Given the description of an element on the screen output the (x, y) to click on. 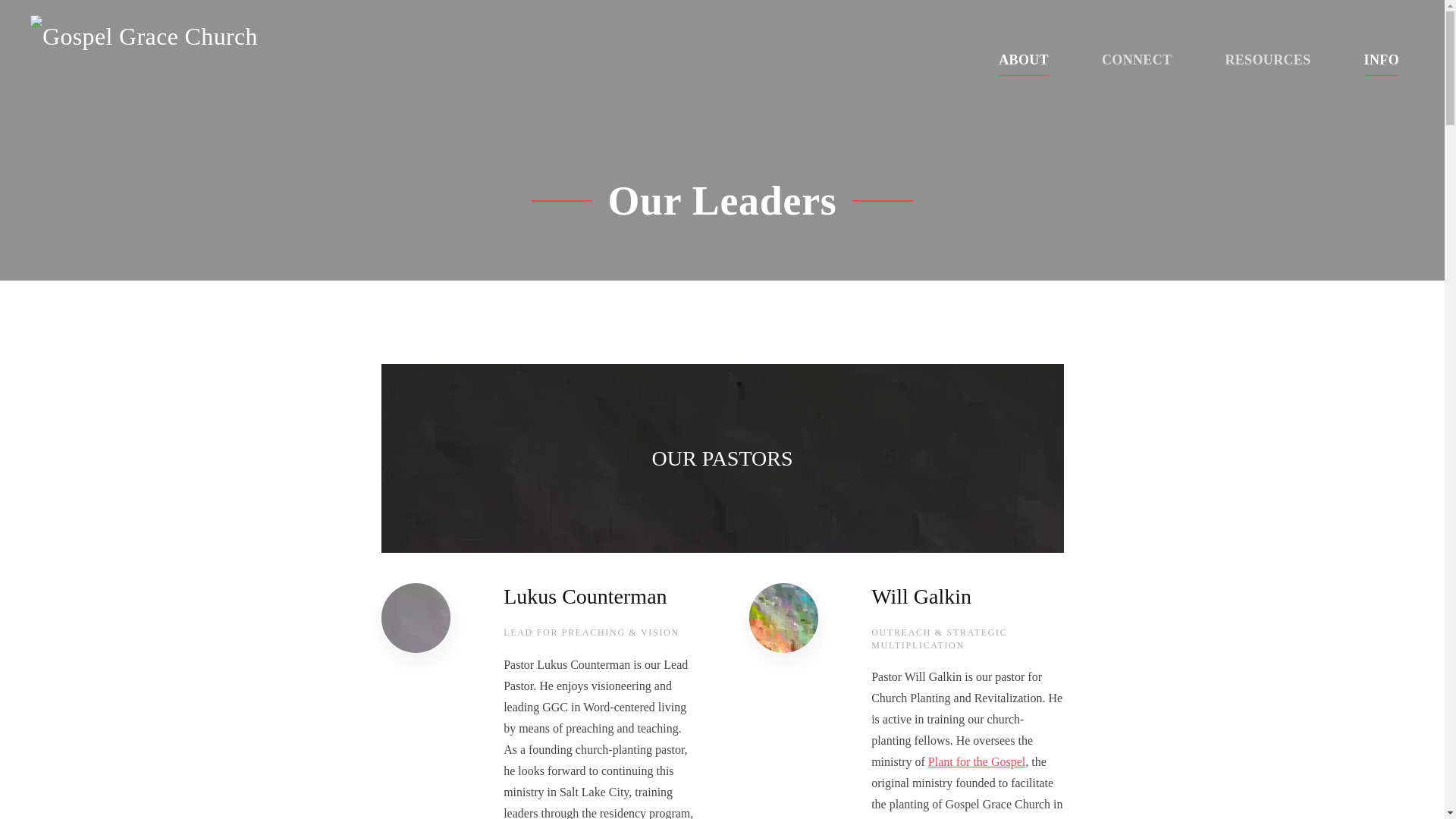
INFO (1381, 60)
ABOUT (1024, 60)
RESOURCES (1266, 60)
CONNECT (1136, 60)
